Given the description of an element on the screen output the (x, y) to click on. 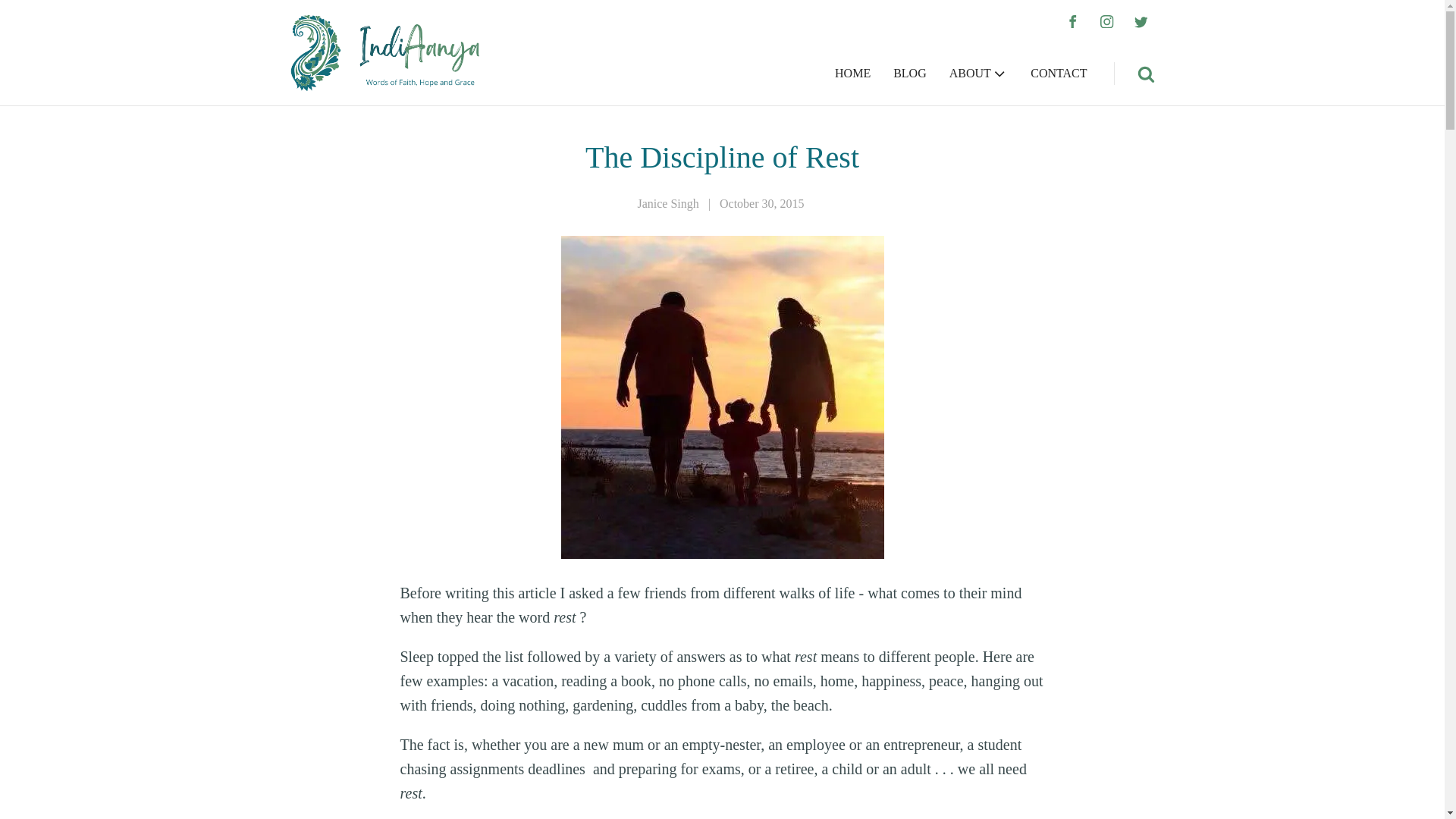
BLOG (909, 73)
ABOUT (978, 73)
HOME (853, 73)
CONTACT (1058, 73)
